Given the description of an element on the screen output the (x, y) to click on. 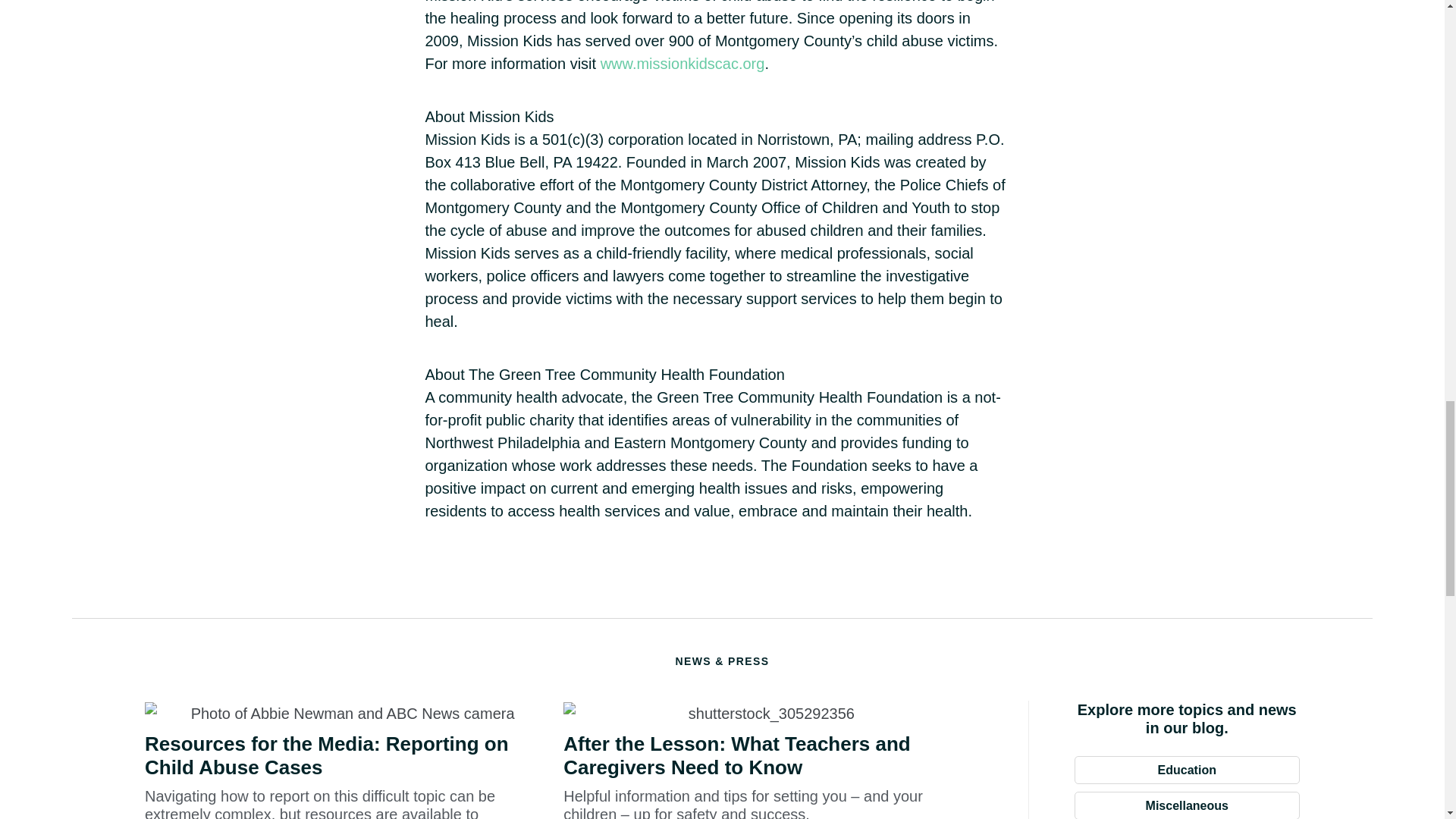
Abbie Channel 6 ABC News (346, 712)
